Given the description of an element on the screen output the (x, y) to click on. 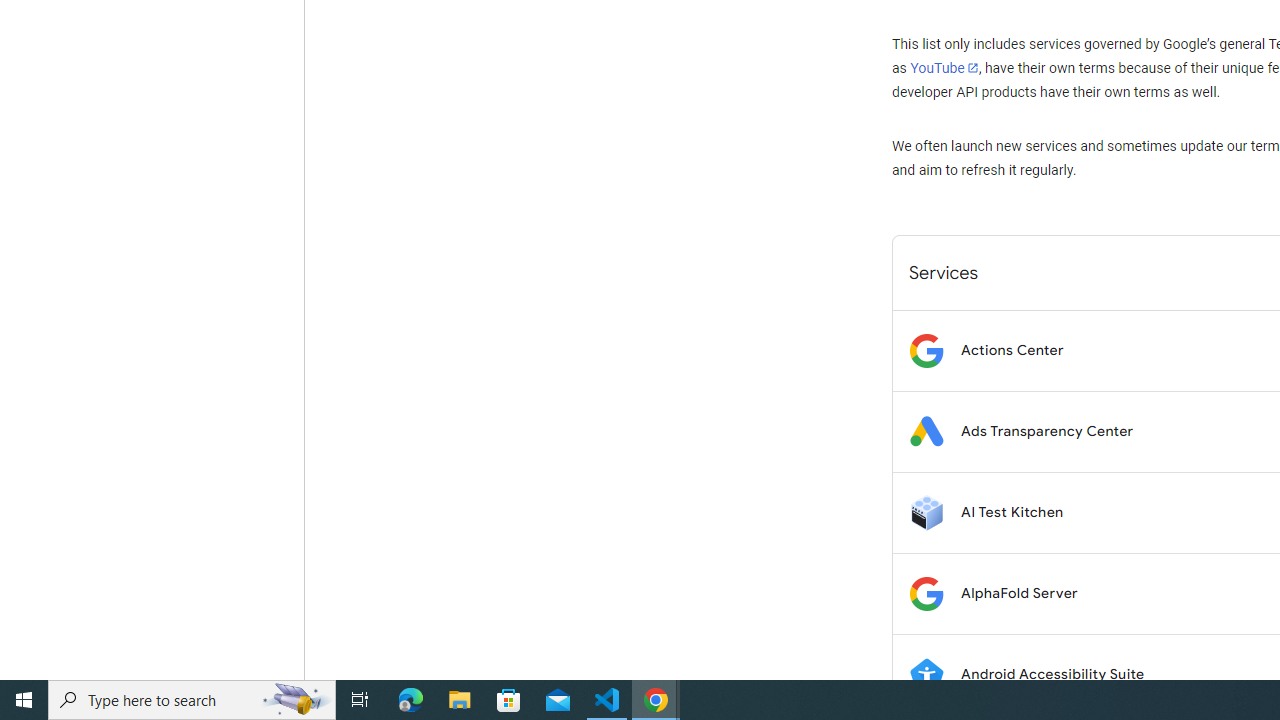
Logo for Ads Transparency Center (926, 431)
Logo for AI Test Kitchen (926, 512)
Logo for AlphaFold Server (926, 593)
Logo for Actions Center (926, 349)
YouTube (944, 68)
Logo for Android Accessibility Suite (926, 673)
